Given the description of an element on the screen output the (x, y) to click on. 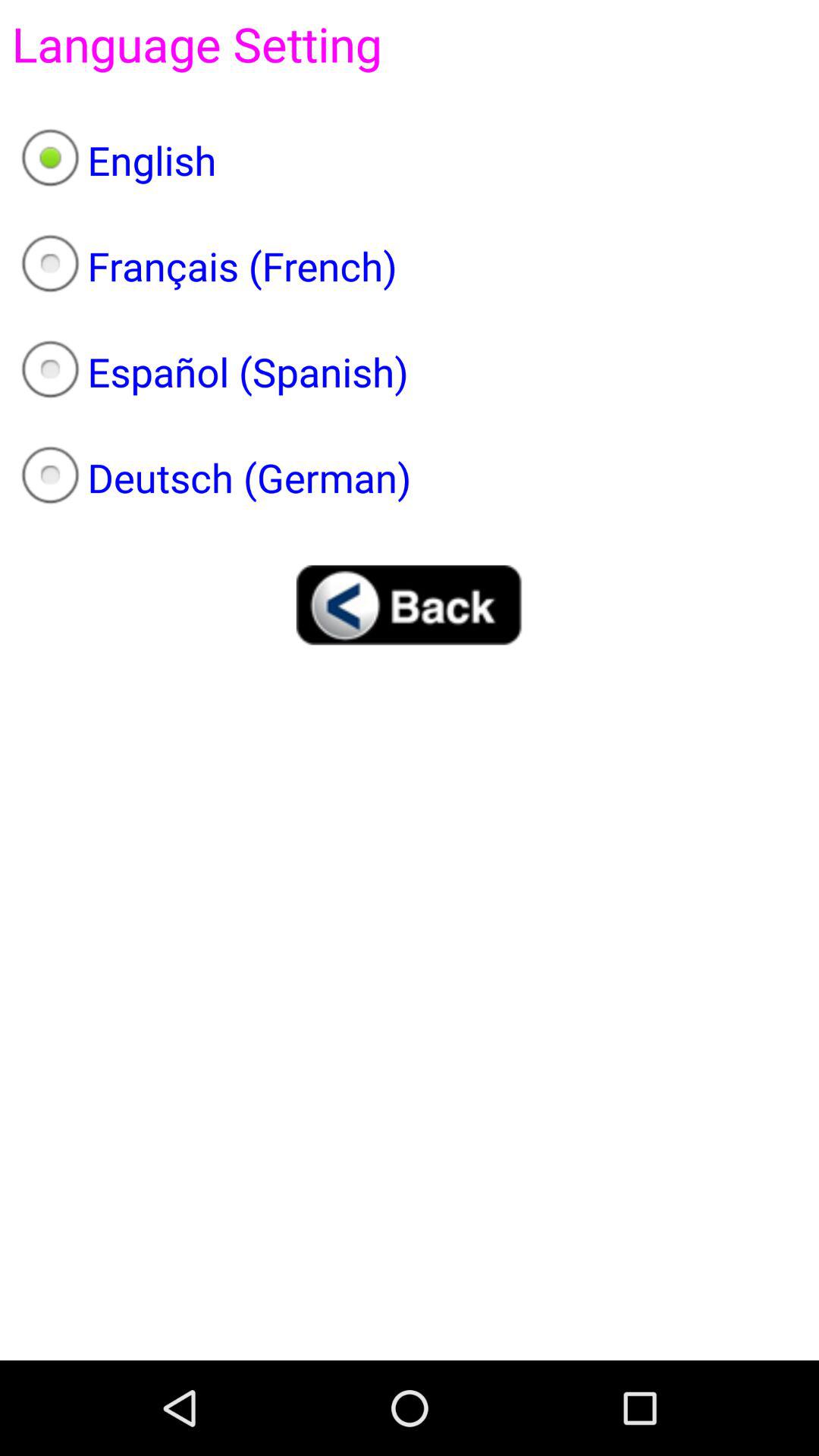
choose item below the deutsch (german) item (409, 604)
